Given the description of an element on the screen output the (x, y) to click on. 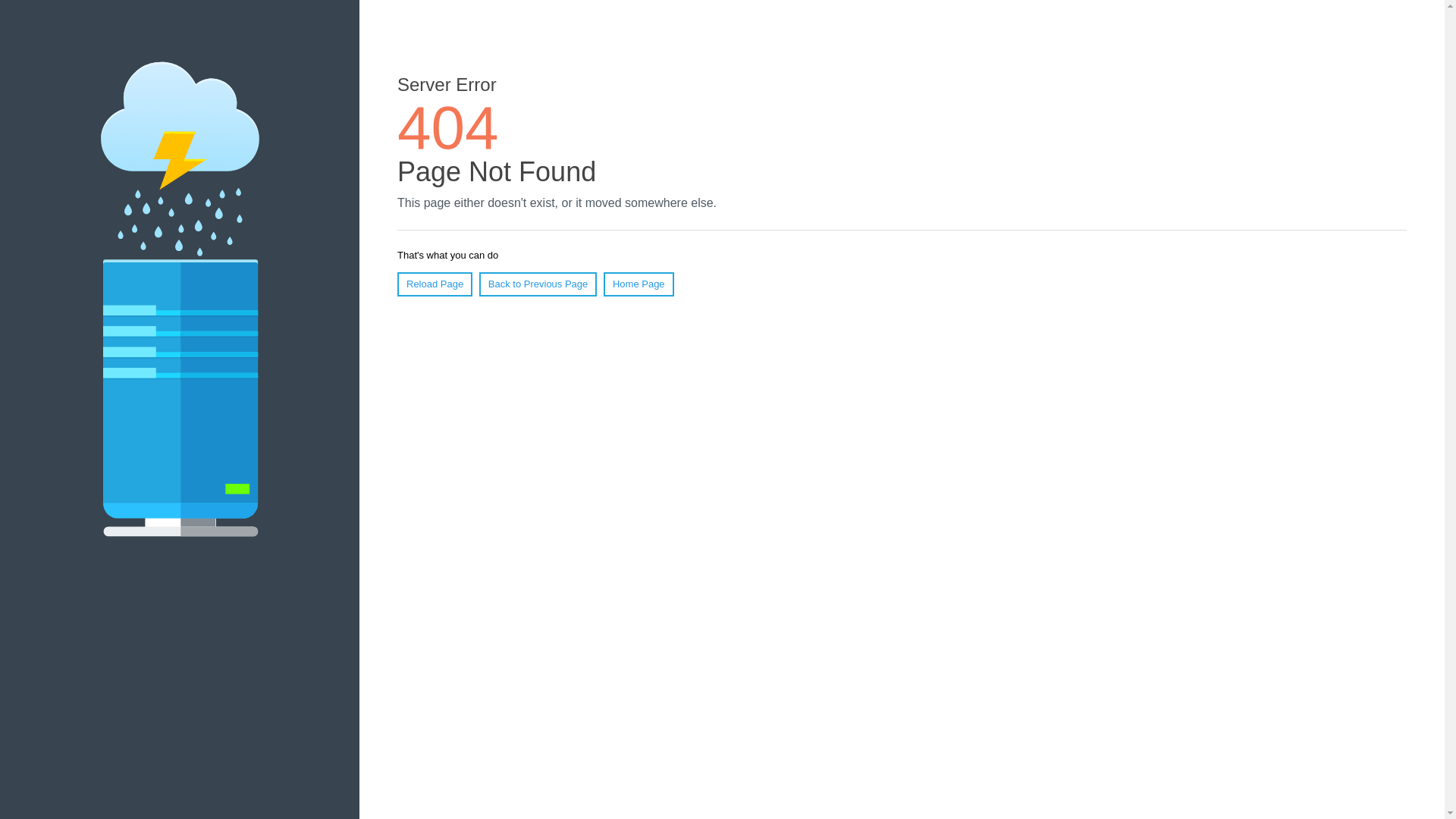
Home Page Element type: text (638, 284)
Reload Page Element type: text (434, 284)
Back to Previous Page Element type: text (538, 284)
